Given the description of an element on the screen output the (x, y) to click on. 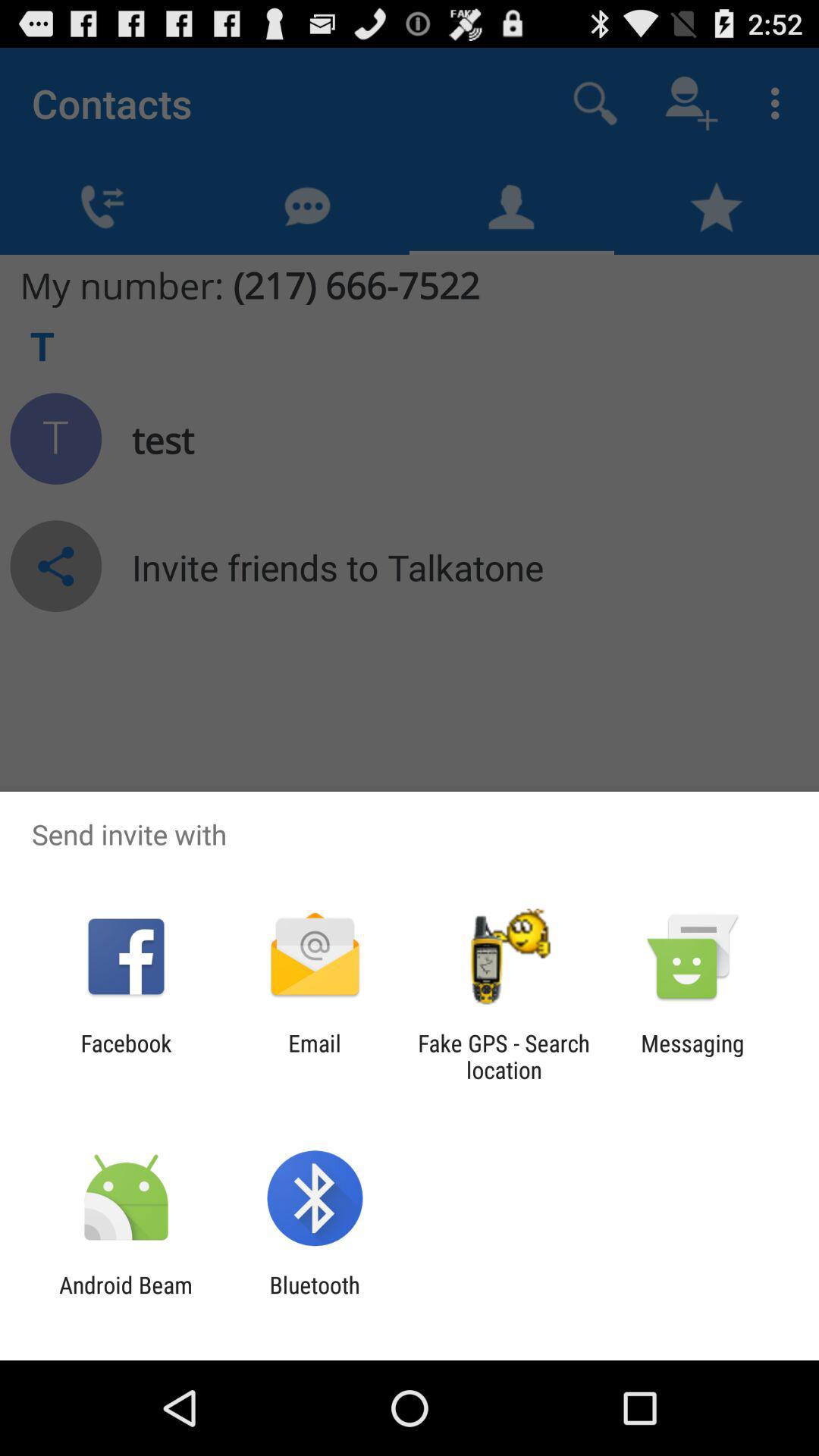
open the messaging (692, 1056)
